Given the description of an element on the screen output the (x, y) to click on. 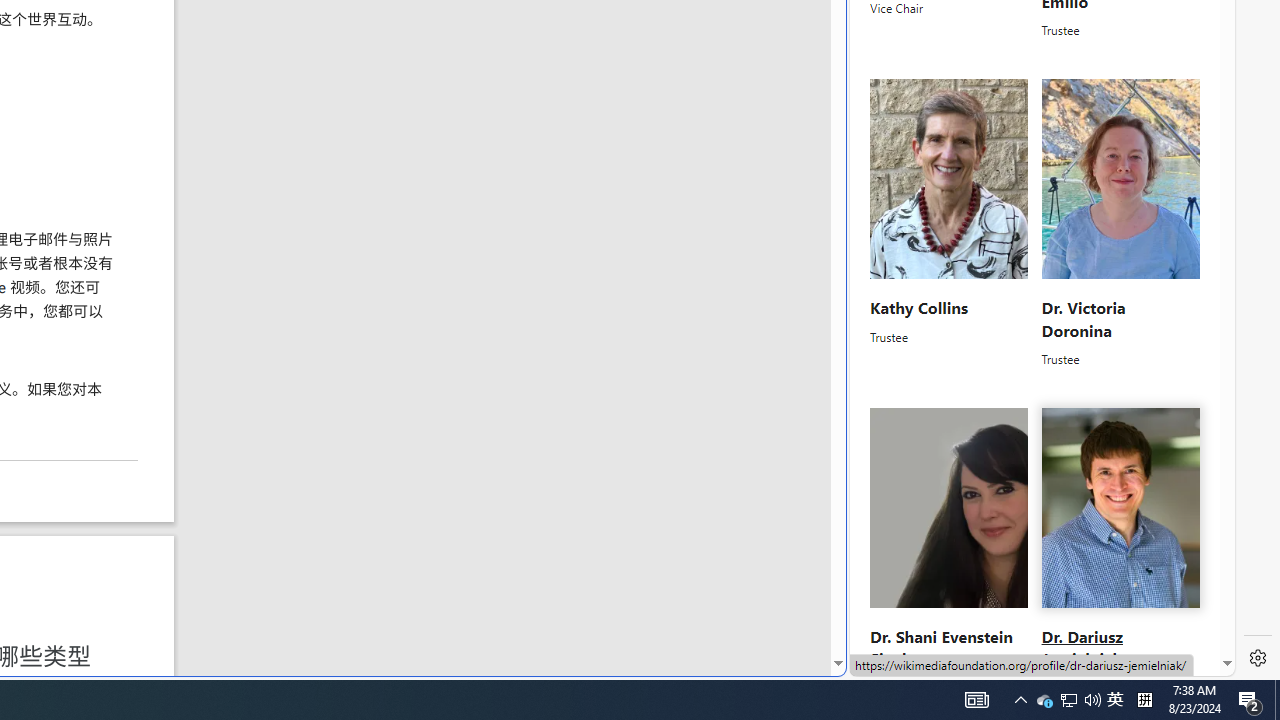
Kathy CollinsTrustee (949, 223)
Kathy Collins (918, 307)
Dr. Victoria DoroninaTrustee (1120, 223)
Dr. Dariusz Jemielniak (1080, 647)
